Given the description of an element on the screen output the (x, y) to click on. 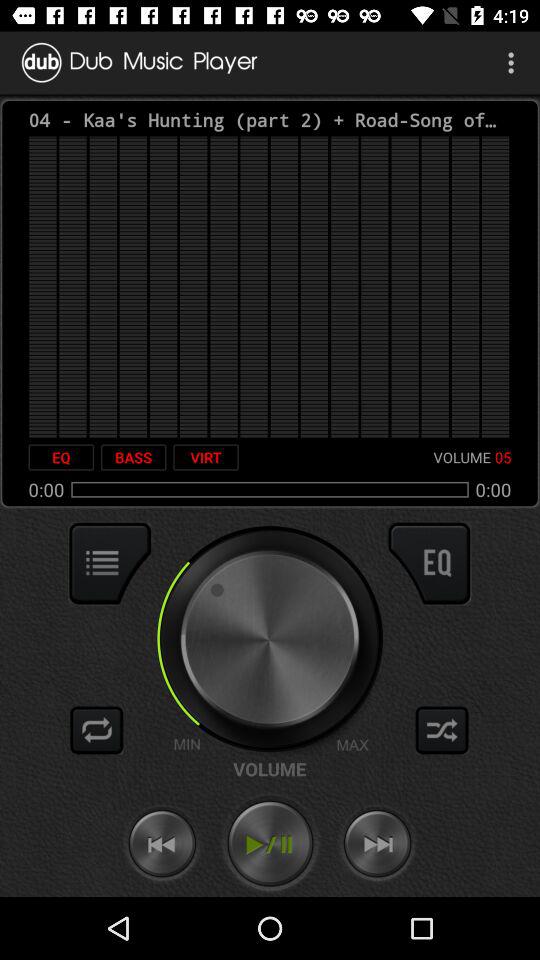
repeat song (97, 730)
